Given the description of an element on the screen output the (x, y) to click on. 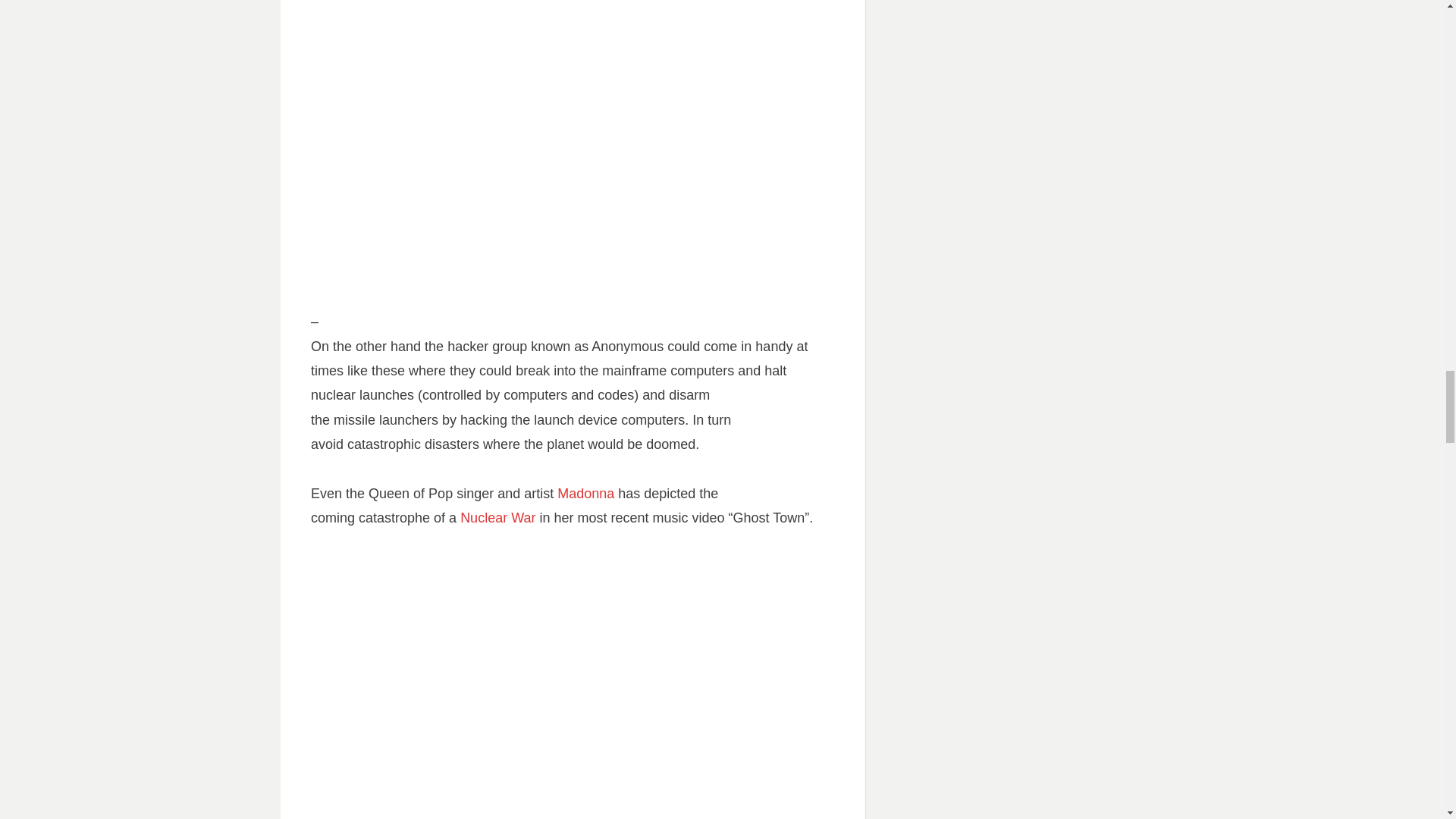
Madonna (585, 493)
Nuclear War (497, 517)
